Given the description of an element on the screen output the (x, y) to click on. 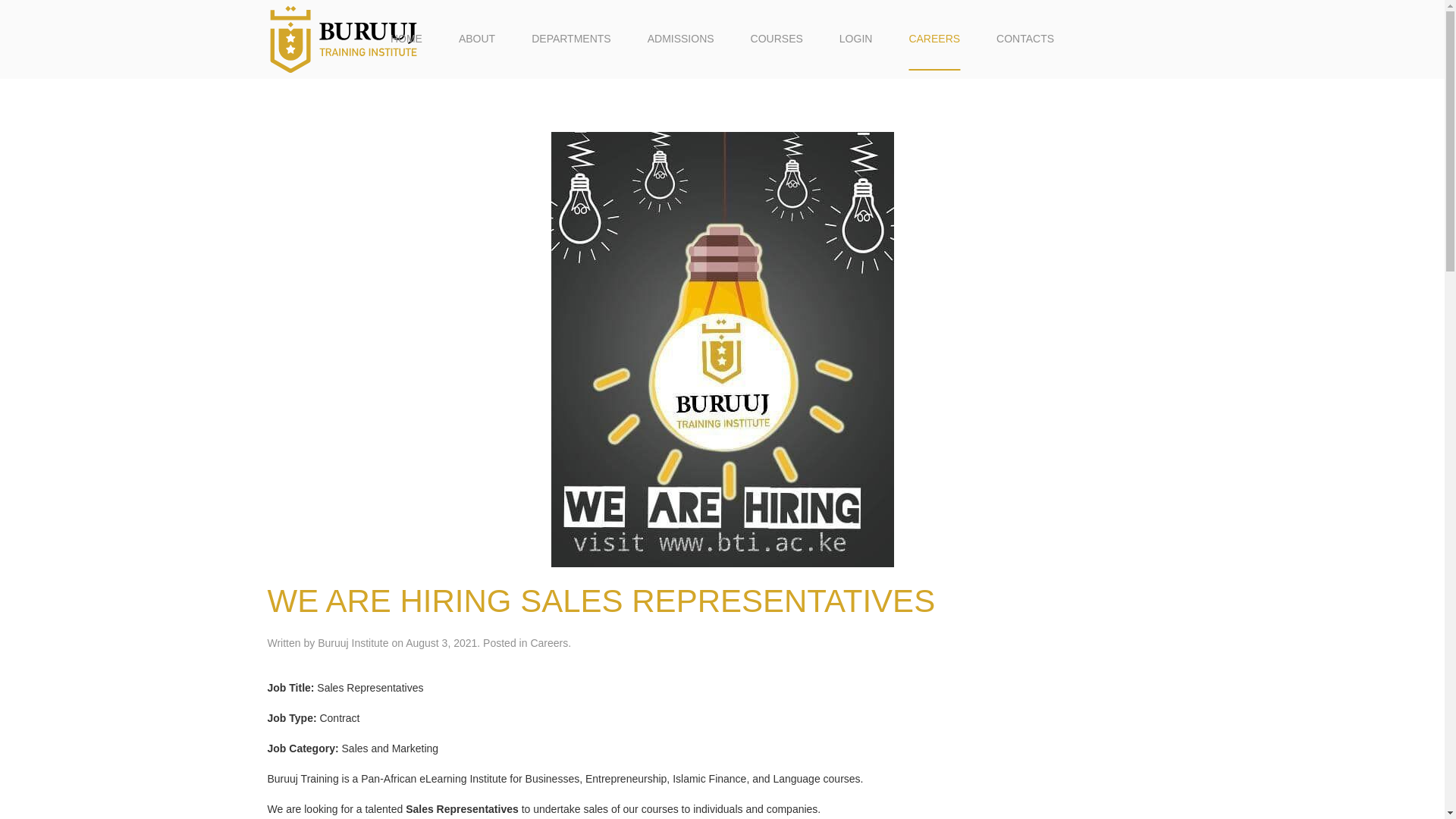
DEPARTMENTS (570, 39)
HOME (406, 39)
ABOUT (477, 39)
COURSES (776, 39)
Buruuj Institute (352, 643)
LOGIN (856, 39)
ADMISSIONS (680, 39)
CONTACTS (1024, 39)
CAREERS (933, 39)
